Given the description of an element on the screen output the (x, y) to click on. 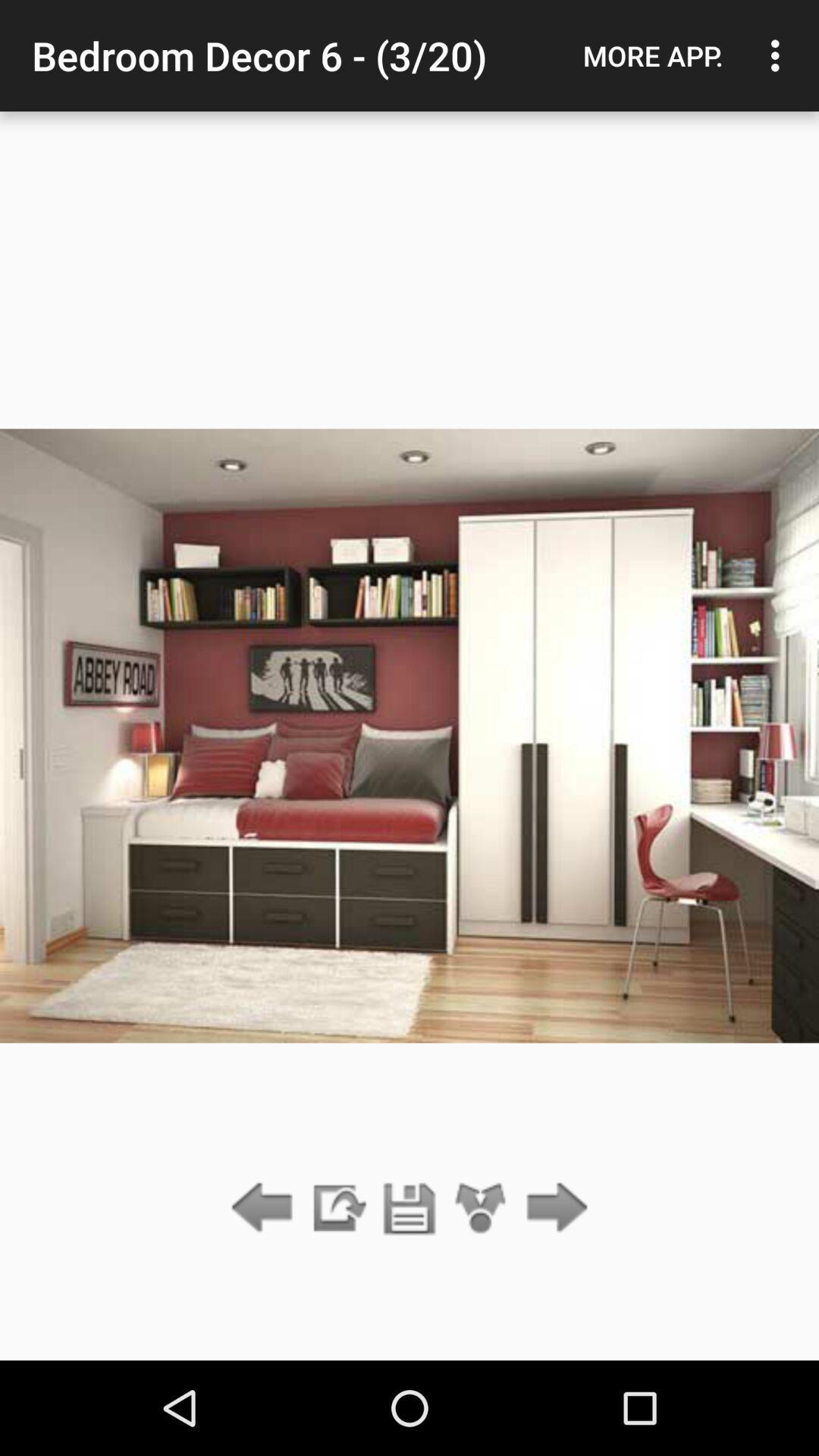
launch the icon below bedroom decor 6 (337, 1208)
